Given the description of an element on the screen output the (x, y) to click on. 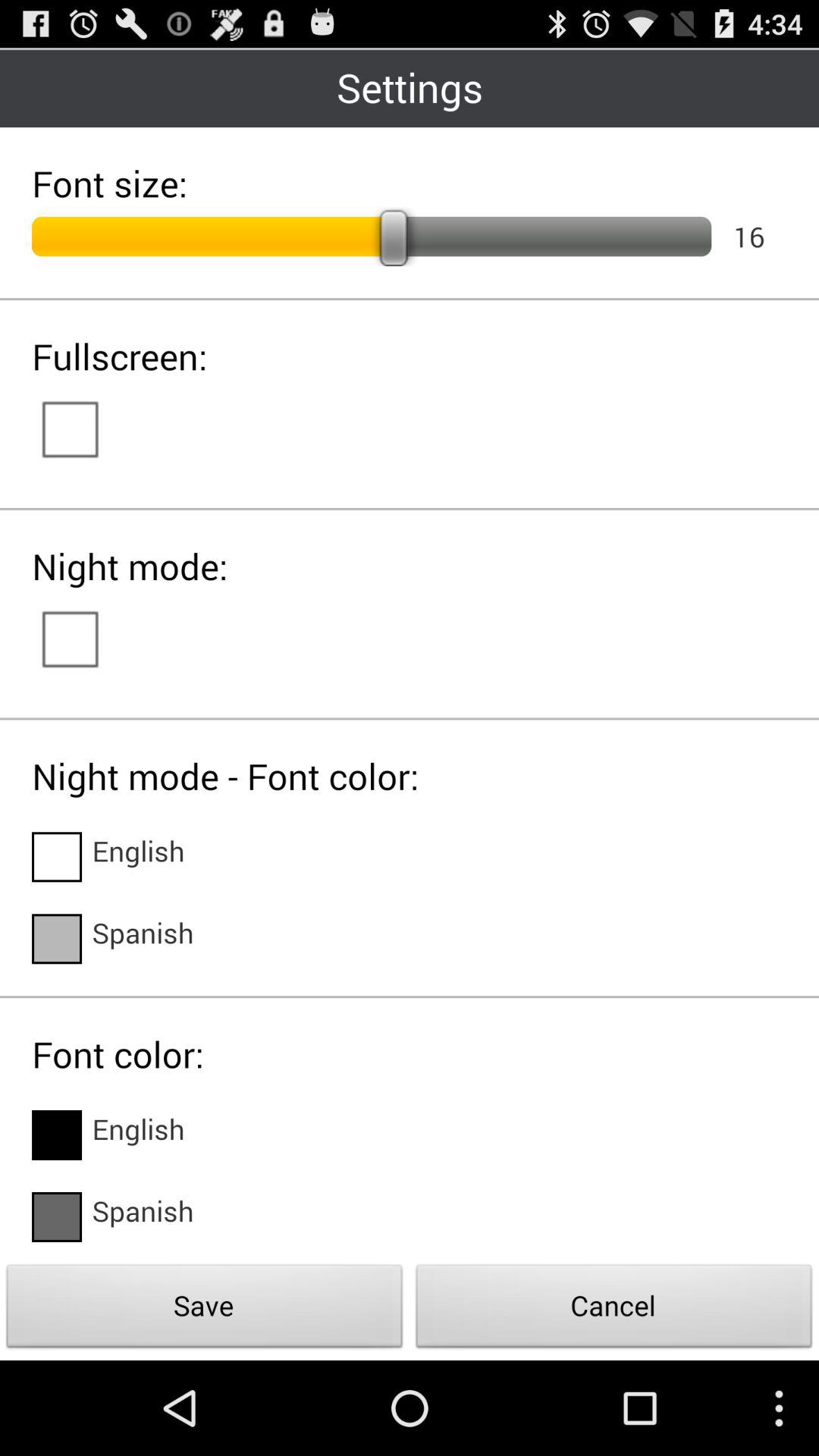
switch autoplay option (85, 637)
